Given the description of an element on the screen output the (x, y) to click on. 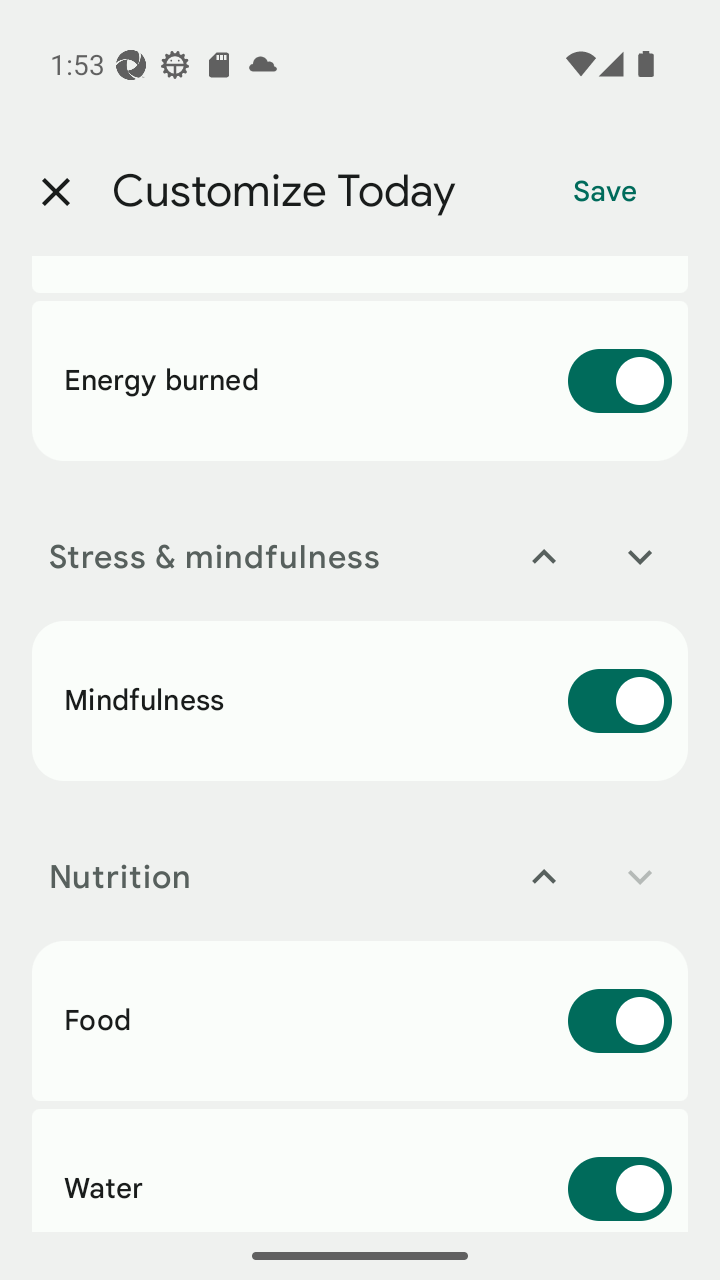
Close (55, 191)
Save (605, 191)
Energy burned (359, 380)
Move Stress & mindfulness up (543, 557)
Move Stress & mindfulness down (639, 557)
Mindfulness (359, 700)
Move Nutrition up (543, 877)
Move Nutrition down (639, 877)
Food (359, 1020)
Water (359, 1169)
